Given the description of an element on the screen output the (x, y) to click on. 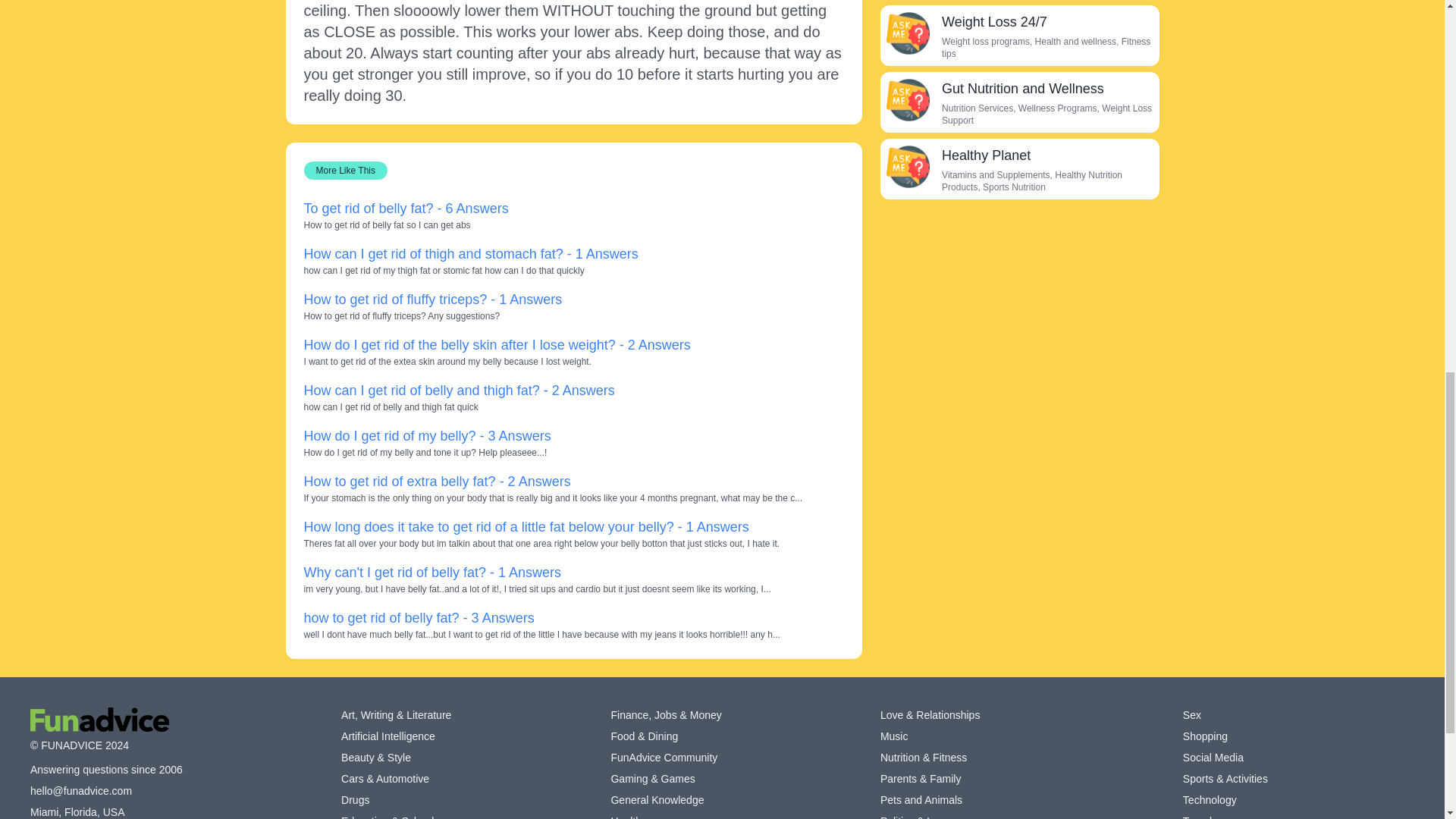
how to get rid of belly fat? - 3 Answers (418, 617)
Healthy Planet (986, 155)
Drugs (354, 799)
How to get rid of extra belly fat? - 2 Answers (436, 481)
Healthy Planet (907, 166)
How can I get rid of belly and thigh fat? - 2 Answers (458, 390)
How can I get rid of thigh and stomach fat? - 1 Answers (469, 253)
How to get rid of fluffy triceps? - 1 Answers (432, 299)
How do I get rid of my belly? - 3 Answers (426, 435)
Why can't I get rid of belly fat? - 1 Answers (431, 572)
Gut Nutrition and Wellness (907, 99)
Artificial Intelligence (387, 735)
Gut Nutrition and Wellness (1022, 88)
